Given the description of an element on the screen output the (x, y) to click on. 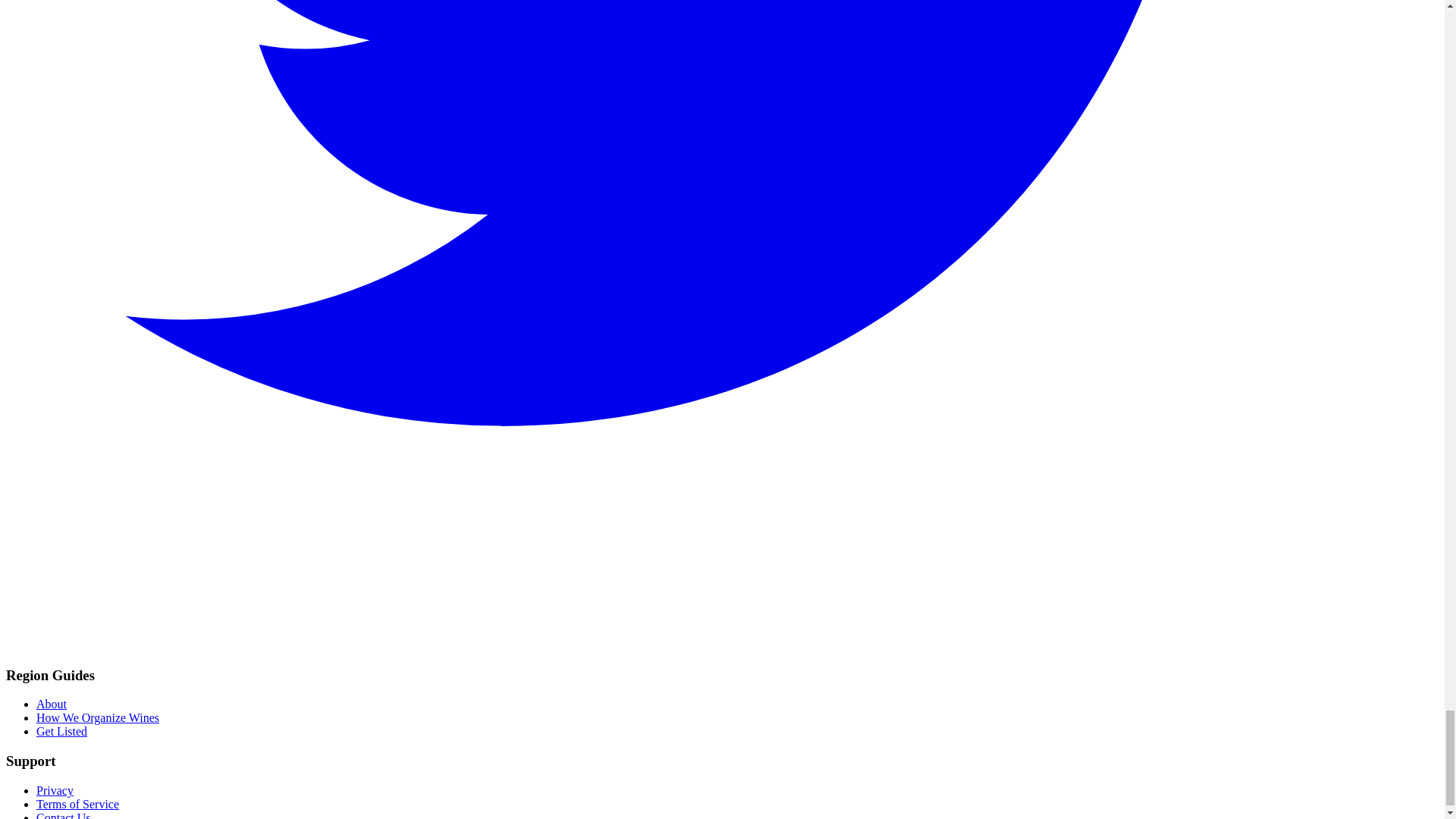
About (51, 703)
